Given the description of an element on the screen output the (x, y) to click on. 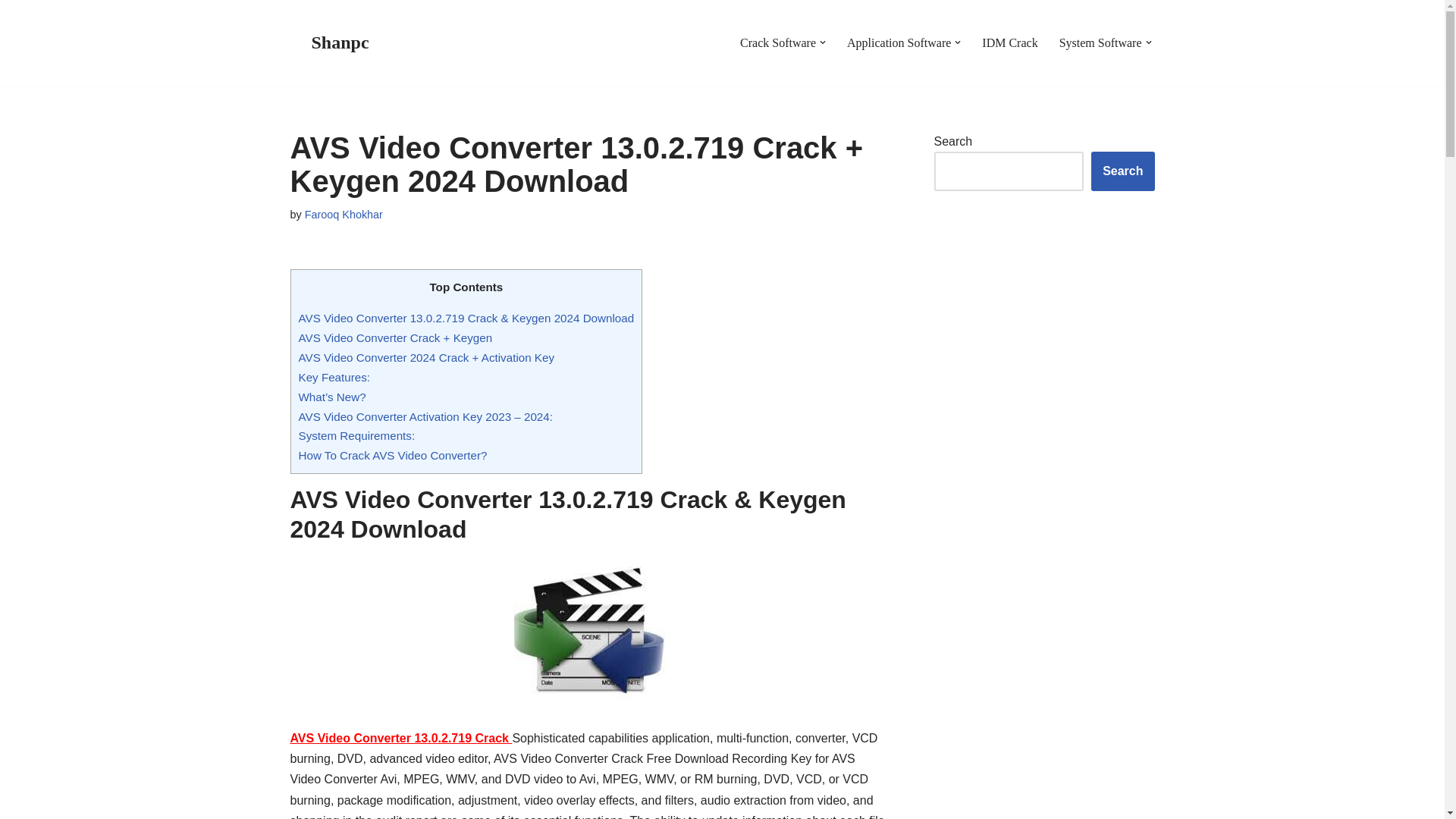
Application Software (898, 42)
System Software (1100, 42)
IDM Crack (1008, 42)
Skip to content (11, 31)
Posts by Farooq Khokhar (343, 214)
Crack Software (777, 42)
